Given the description of an element on the screen output the (x, y) to click on. 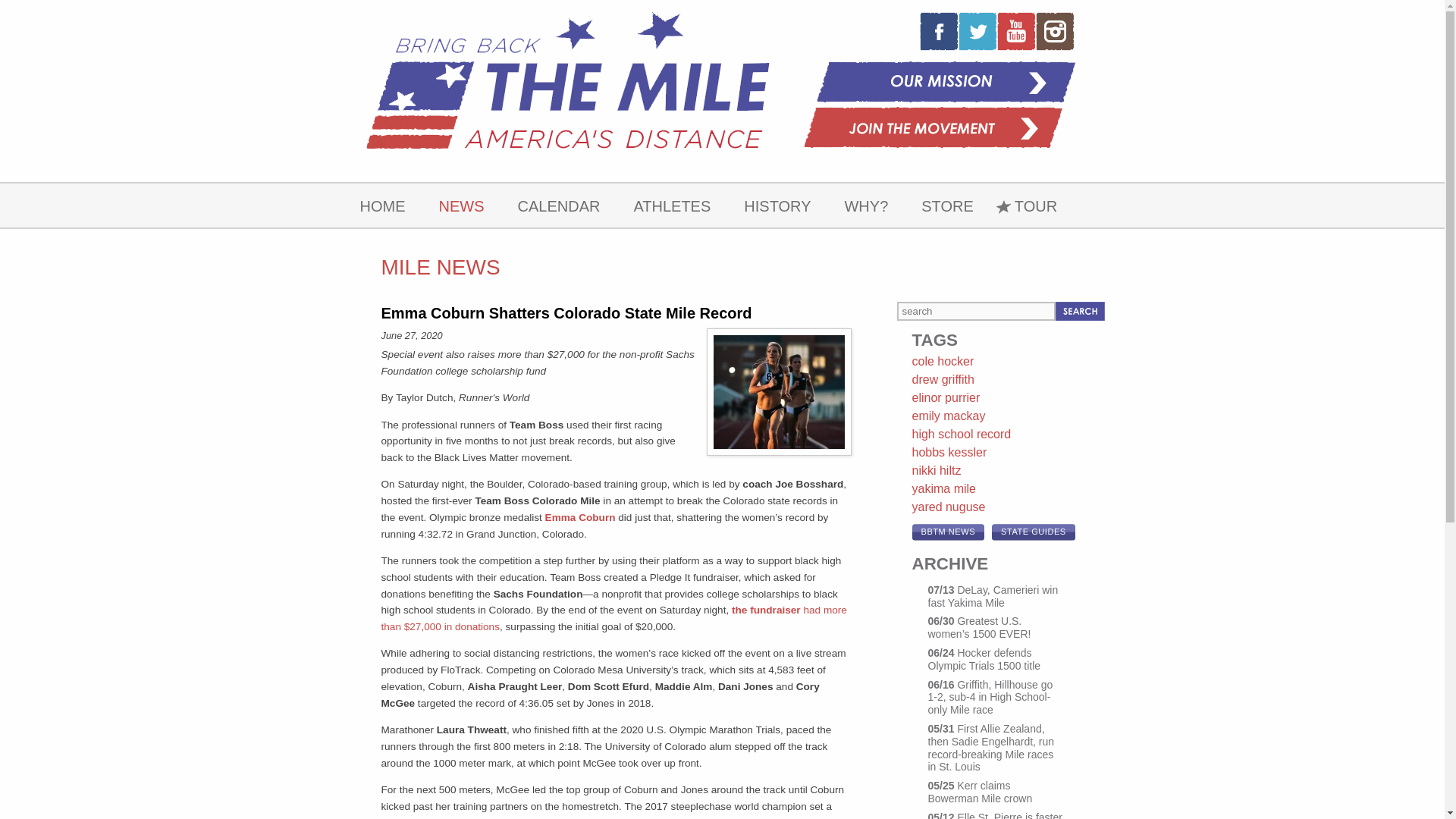
hobbs kessler (949, 451)
elinor purrier (945, 397)
Search (1080, 311)
elinor purrier (945, 397)
drew griffith (942, 379)
cole hocker (942, 360)
emily mackay (948, 415)
yt (1015, 30)
HOME (382, 205)
NEWS (461, 205)
yakima mile (943, 488)
Search (1080, 311)
Emma Coburn (579, 517)
emily mackay (948, 415)
yared nuguse (948, 506)
